Given the description of an element on the screen output the (x, y) to click on. 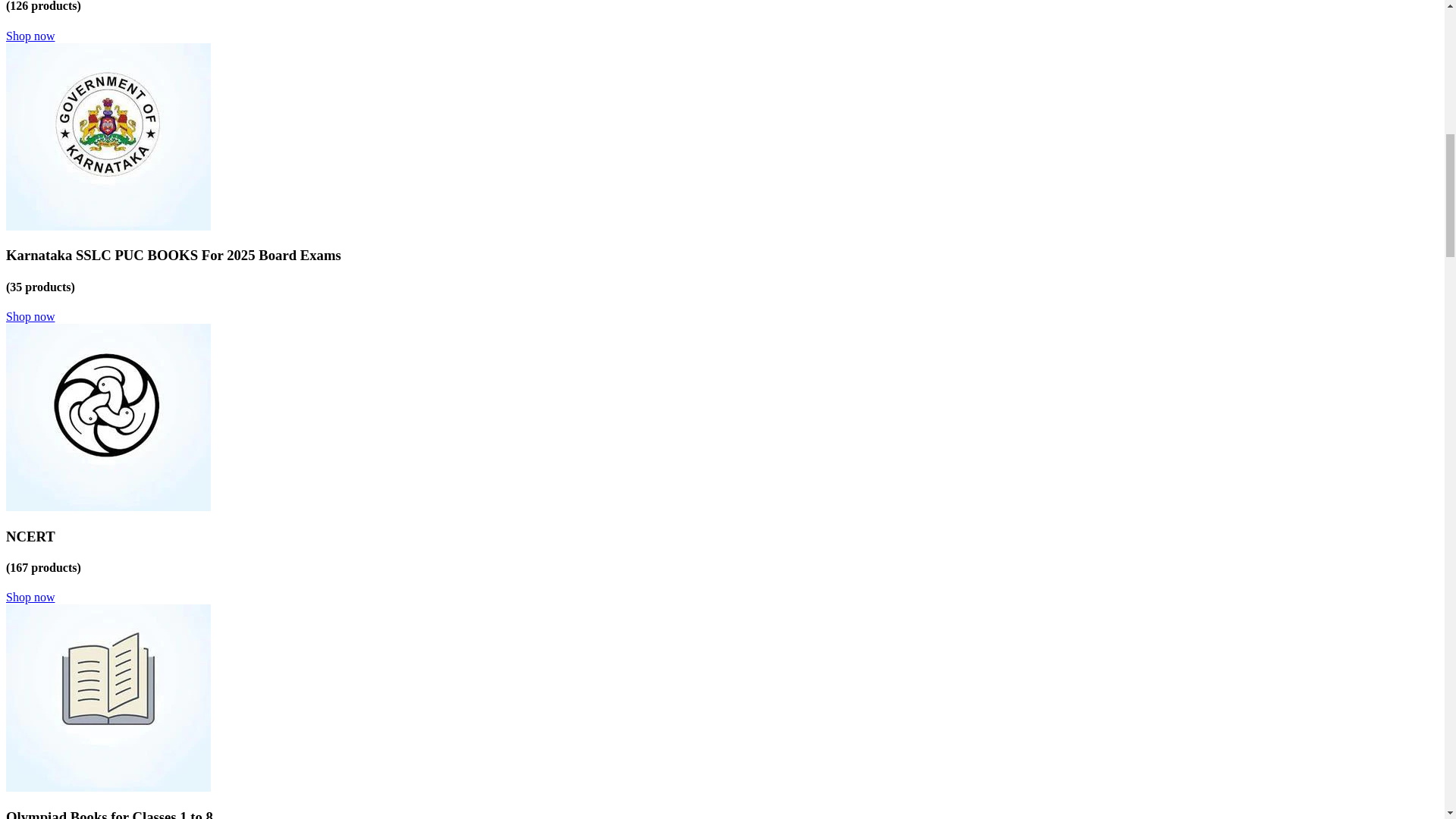
Shop now (30, 596)
Shop now (30, 35)
Shop now (30, 316)
